Given the description of an element on the screen output the (x, y) to click on. 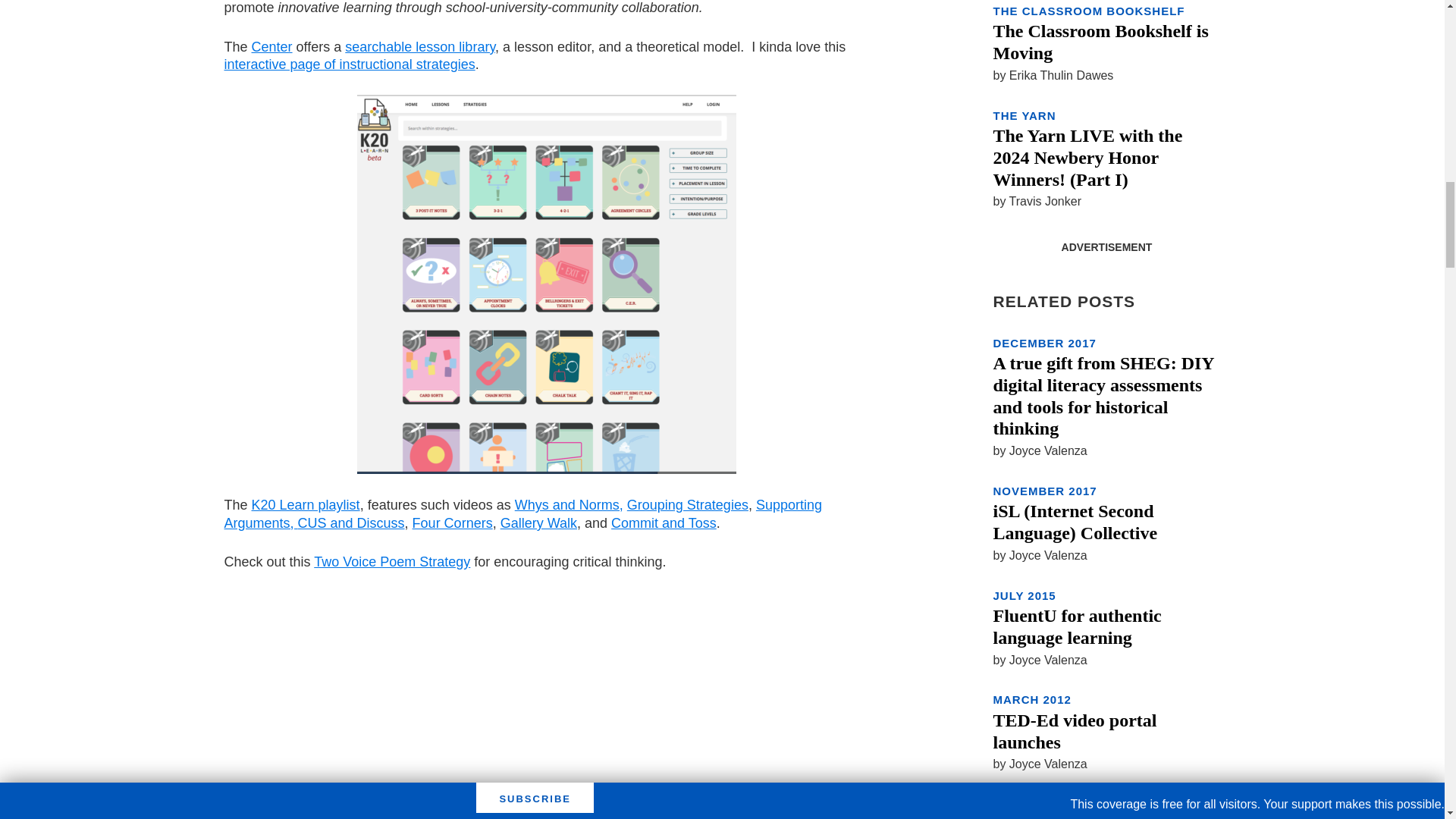
Two Voice - LEARN Strategy (414, 698)
